Given the description of an element on the screen output the (x, y) to click on. 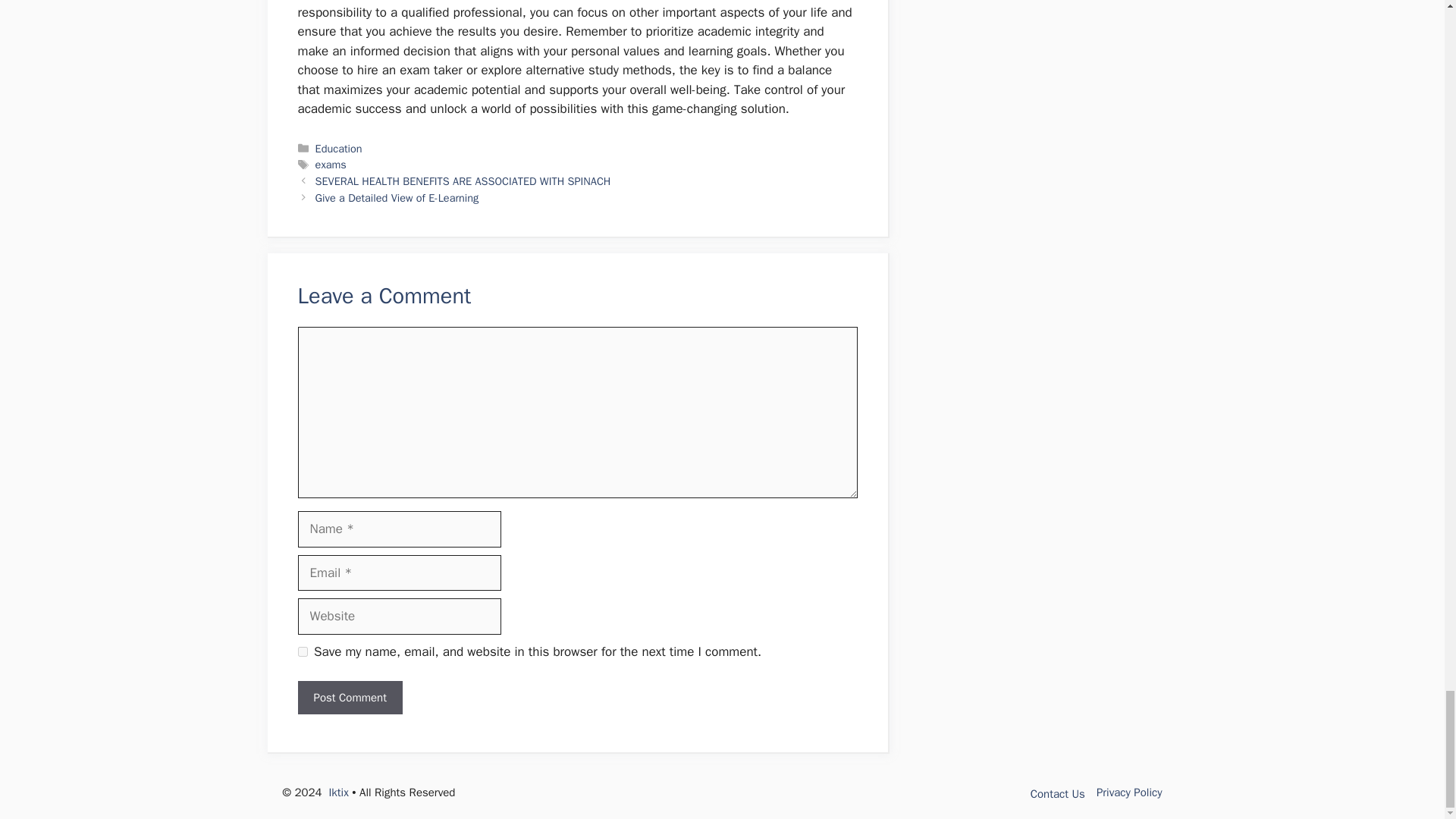
yes (302, 651)
SEVERAL HEALTH BENEFITS ARE ASSOCIATED WITH SPINACH (463, 181)
exams (330, 164)
Education (338, 147)
Post Comment (349, 697)
Give a Detailed View of E-Learning (397, 197)
Post Comment (349, 697)
